Given the description of an element on the screen output the (x, y) to click on. 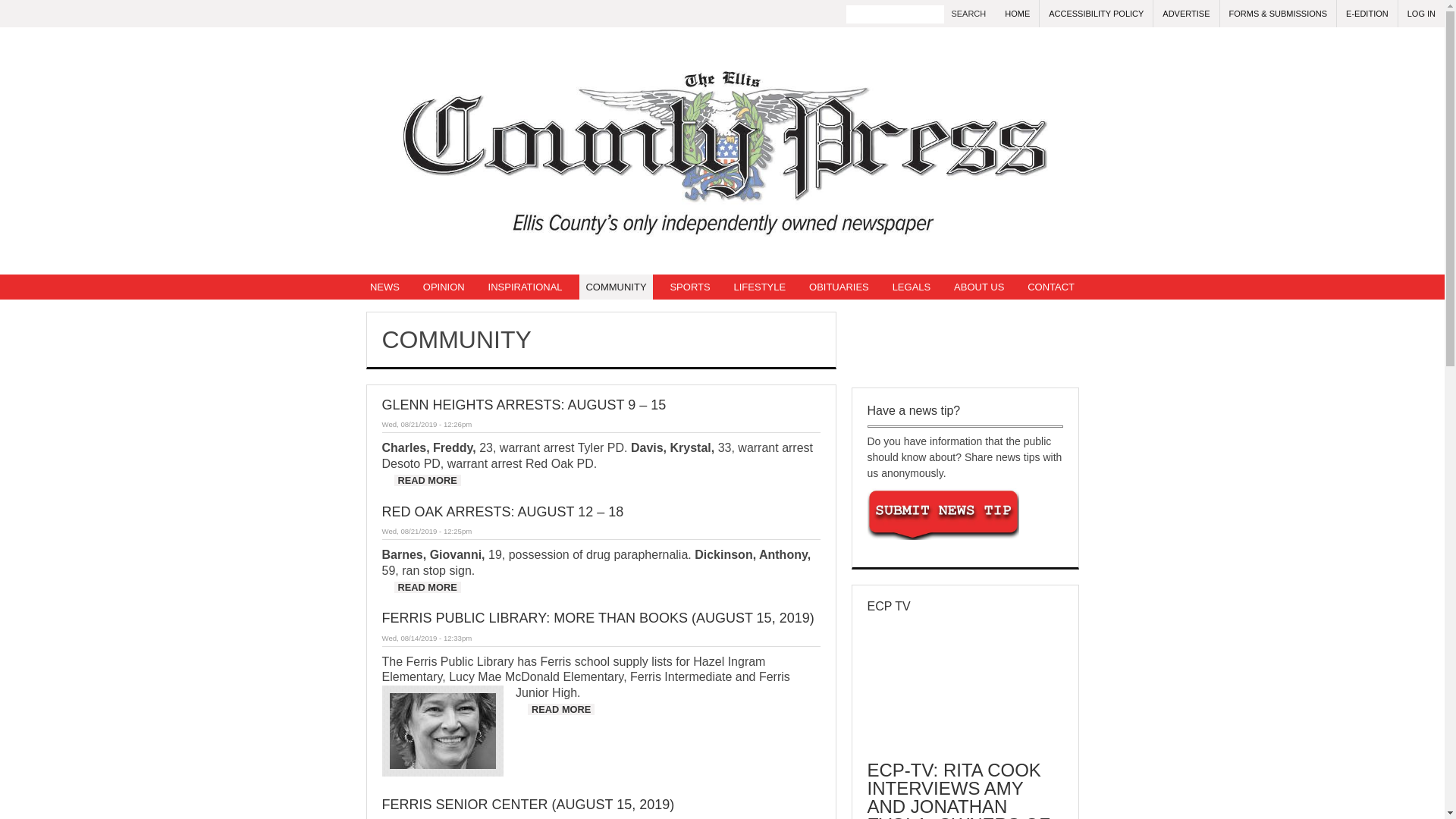
Sports (689, 286)
ACCESSIBILITY POLICY (1096, 13)
ADVERTISE (1186, 13)
ABOUT US (978, 286)
E-EDITION (1366, 13)
LIFESTYLE (760, 286)
Link to e-Edition. (1366, 13)
Opinion (443, 286)
Lifestyle (760, 286)
Obituaries (839, 286)
Enter the terms you wish to search for. (894, 13)
Community (615, 286)
Americans with Disabilities Act Compliance Statement (1096, 13)
SPORTS (689, 286)
